Given the description of an element on the screen output the (x, y) to click on. 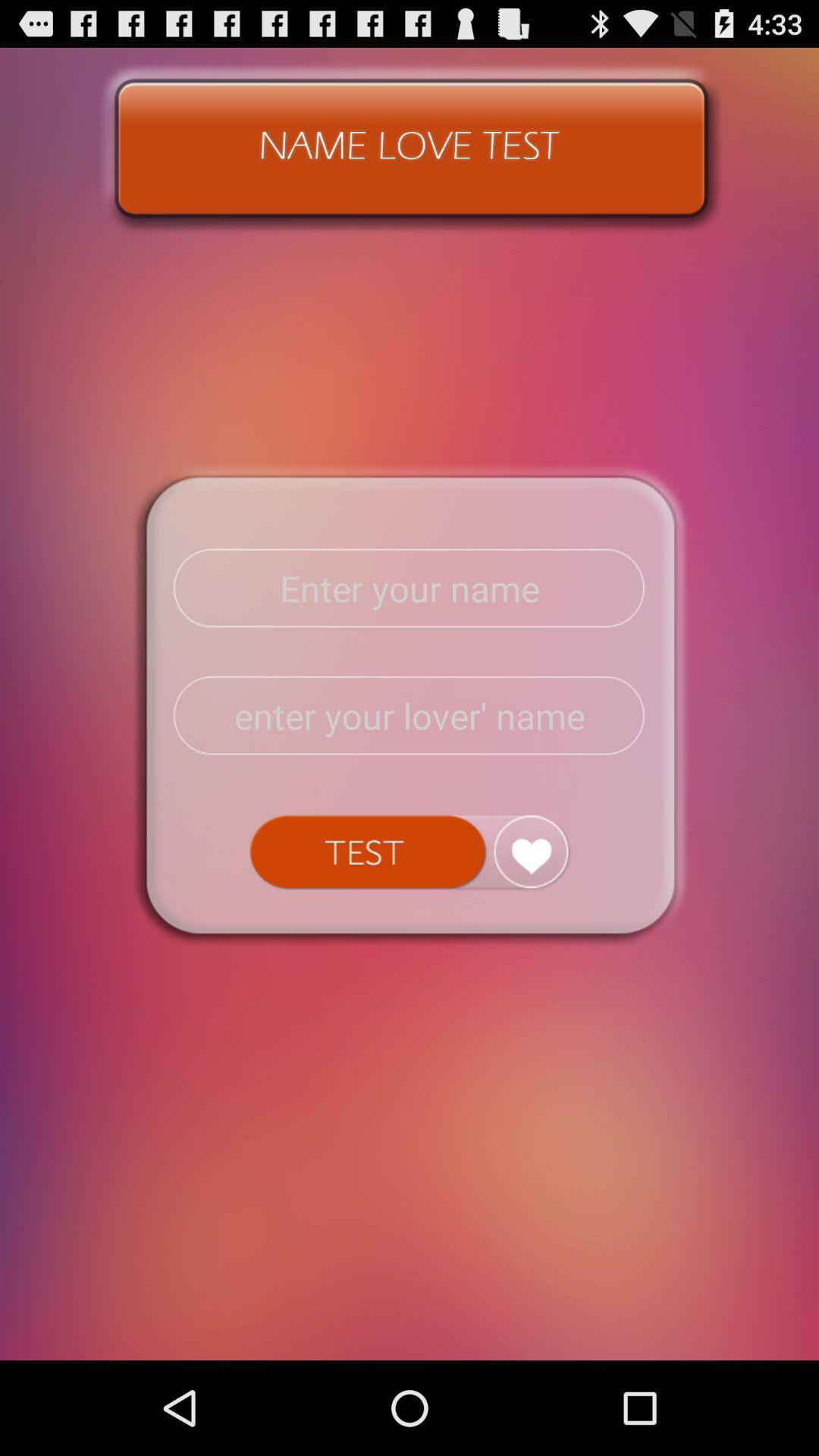
enter your name (409, 588)
